Given the description of an element on the screen output the (x, y) to click on. 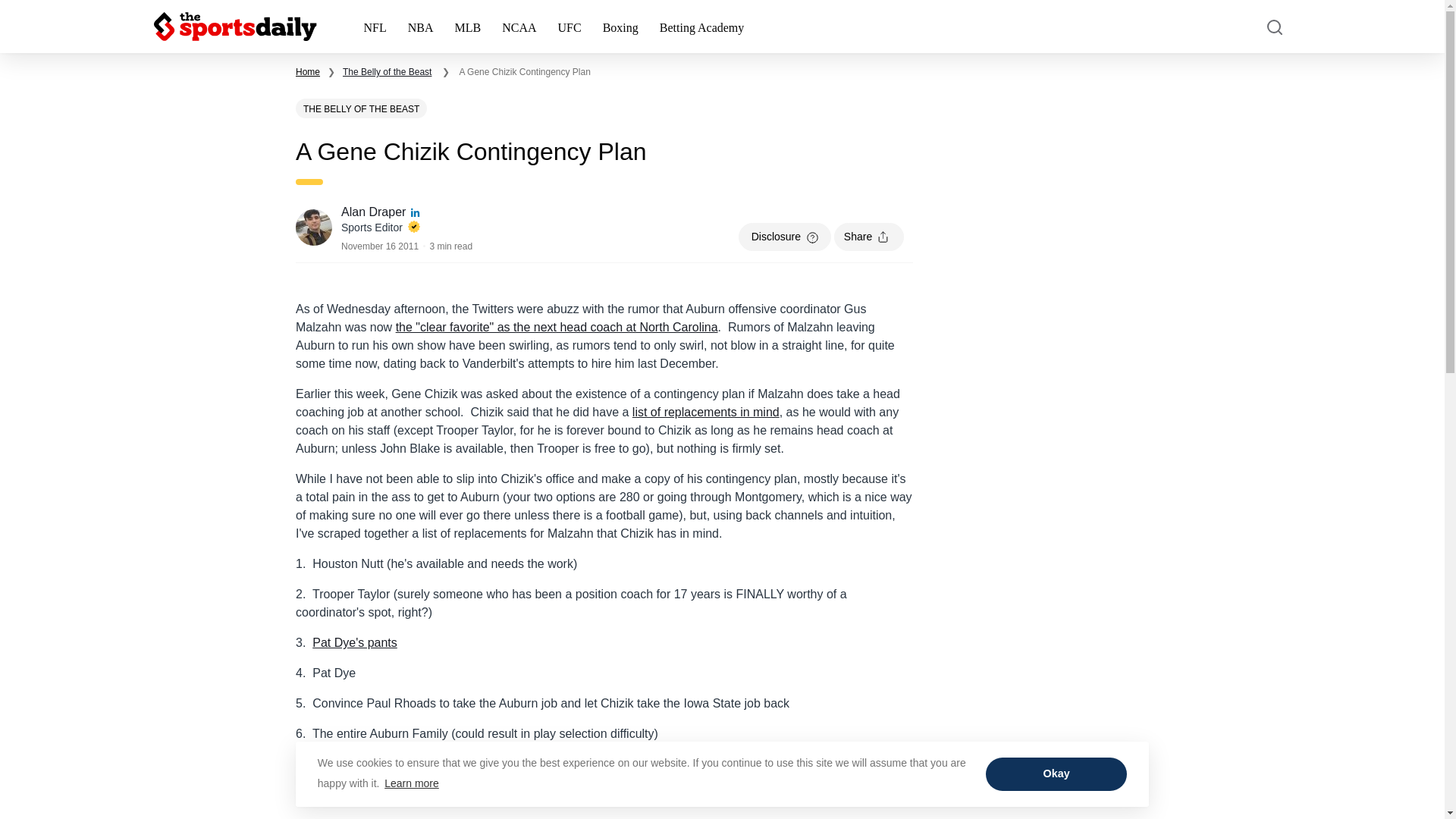
THE BELLY OF THE BEAST (360, 107)
Betting Academy (702, 26)
Share   (869, 236)
list of replacements in mind (704, 411)
Boxing (620, 26)
MLB (468, 26)
The Belly of the Beast (386, 71)
Pat Dye's pants (355, 642)
Alan Draper (374, 211)
Home (307, 71)
NCAA (519, 26)
